Given the description of an element on the screen output the (x, y) to click on. 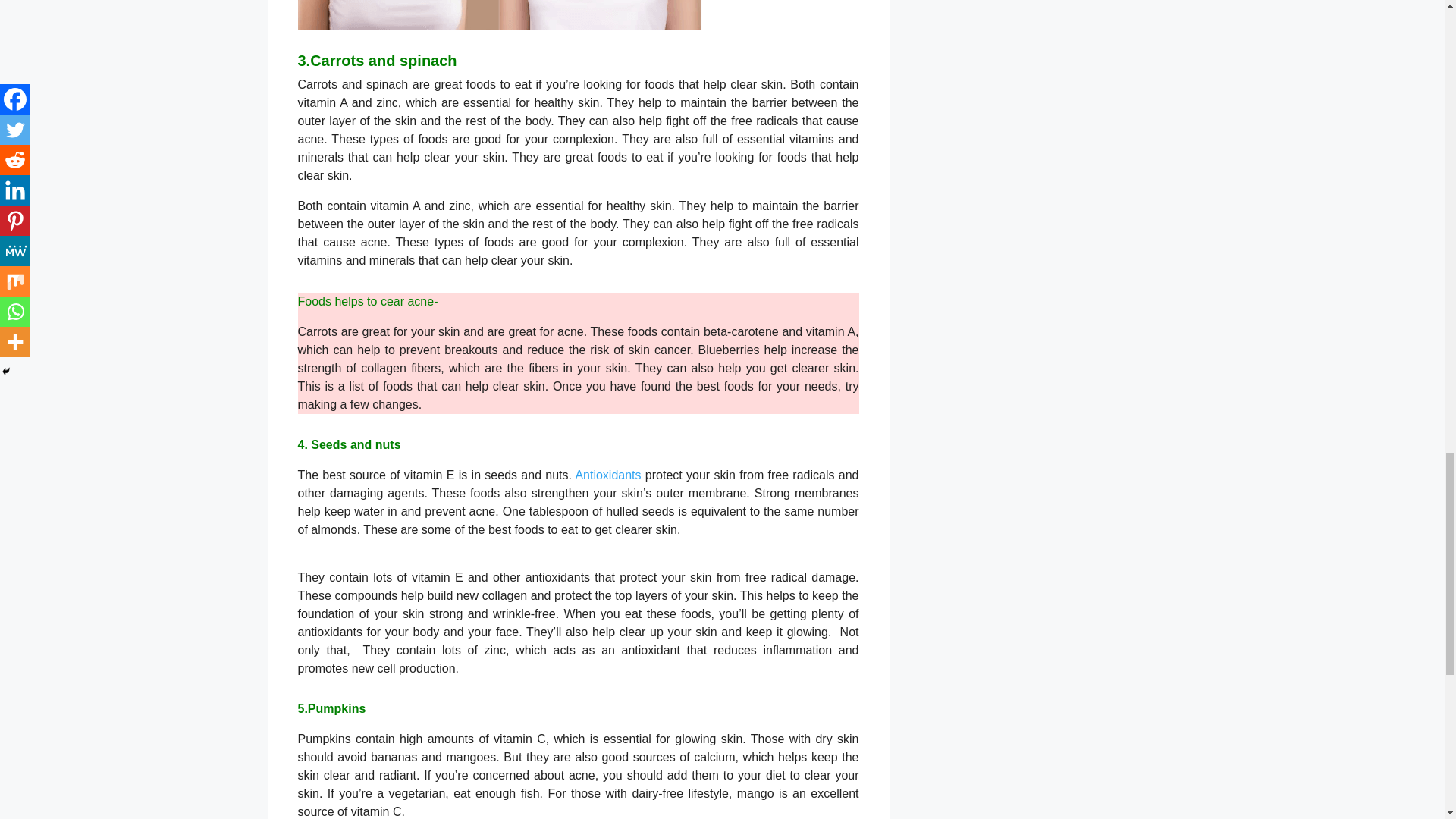
acne clear (499, 15)
Antioxidants (607, 478)
